Given the description of an element on the screen output the (x, y) to click on. 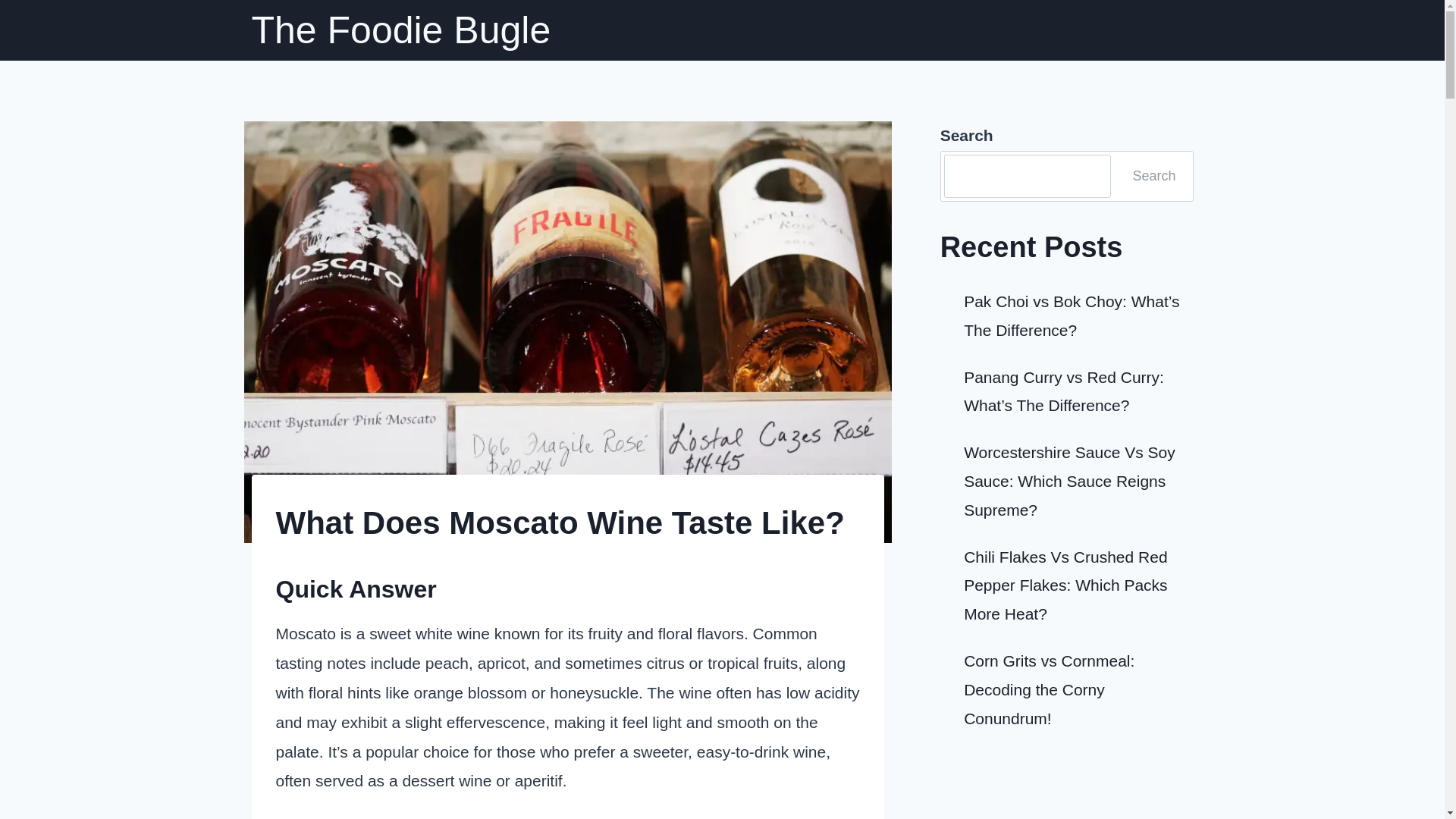
Corn Grits vs Cornmeal: Decoding the Corny Conundrum! (1048, 689)
Search (1153, 176)
The Foodie Bugle (401, 30)
